Given the description of an element on the screen output the (x, y) to click on. 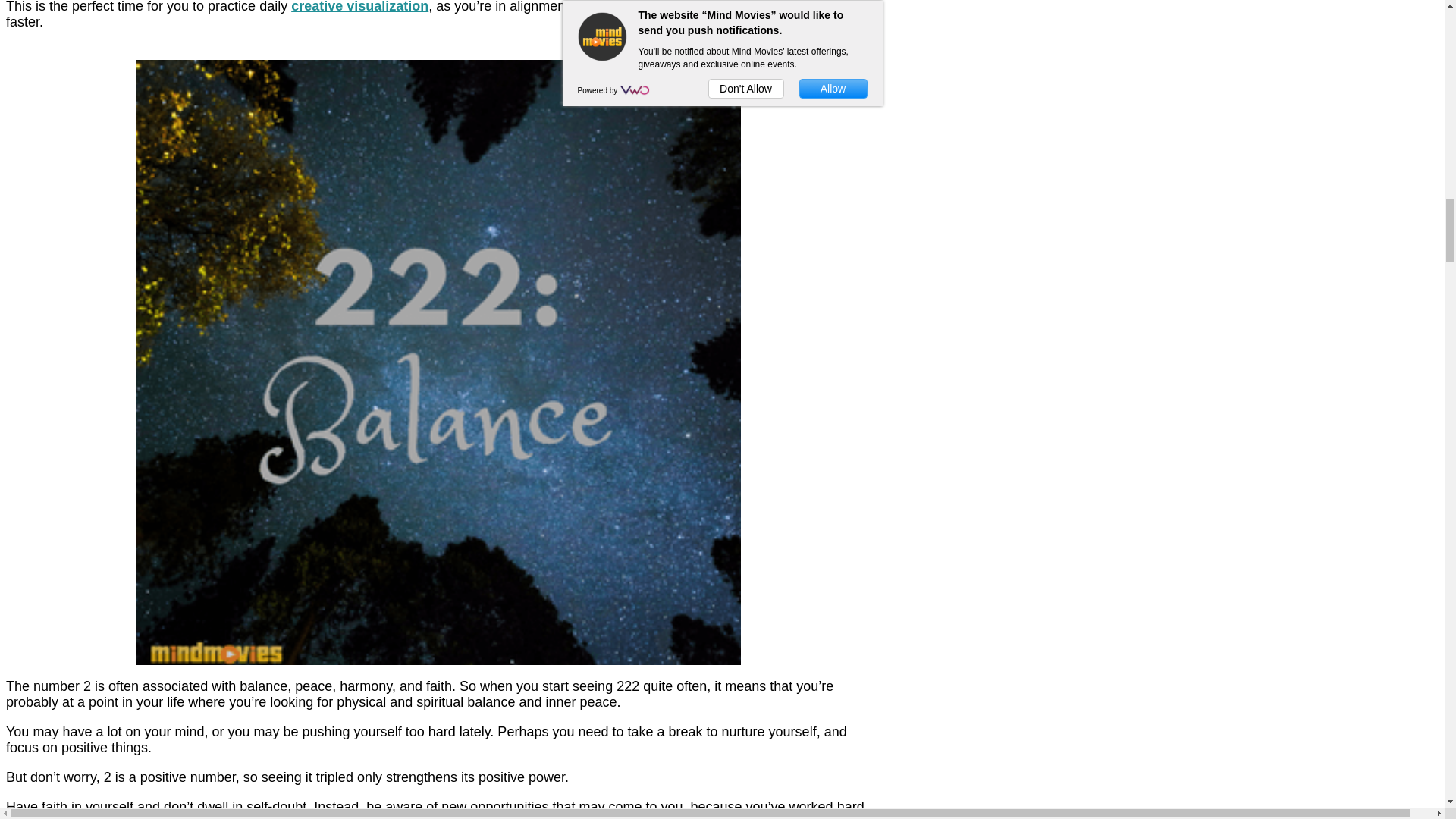
creative visualization (359, 6)
